Given the description of an element on the screen output the (x, y) to click on. 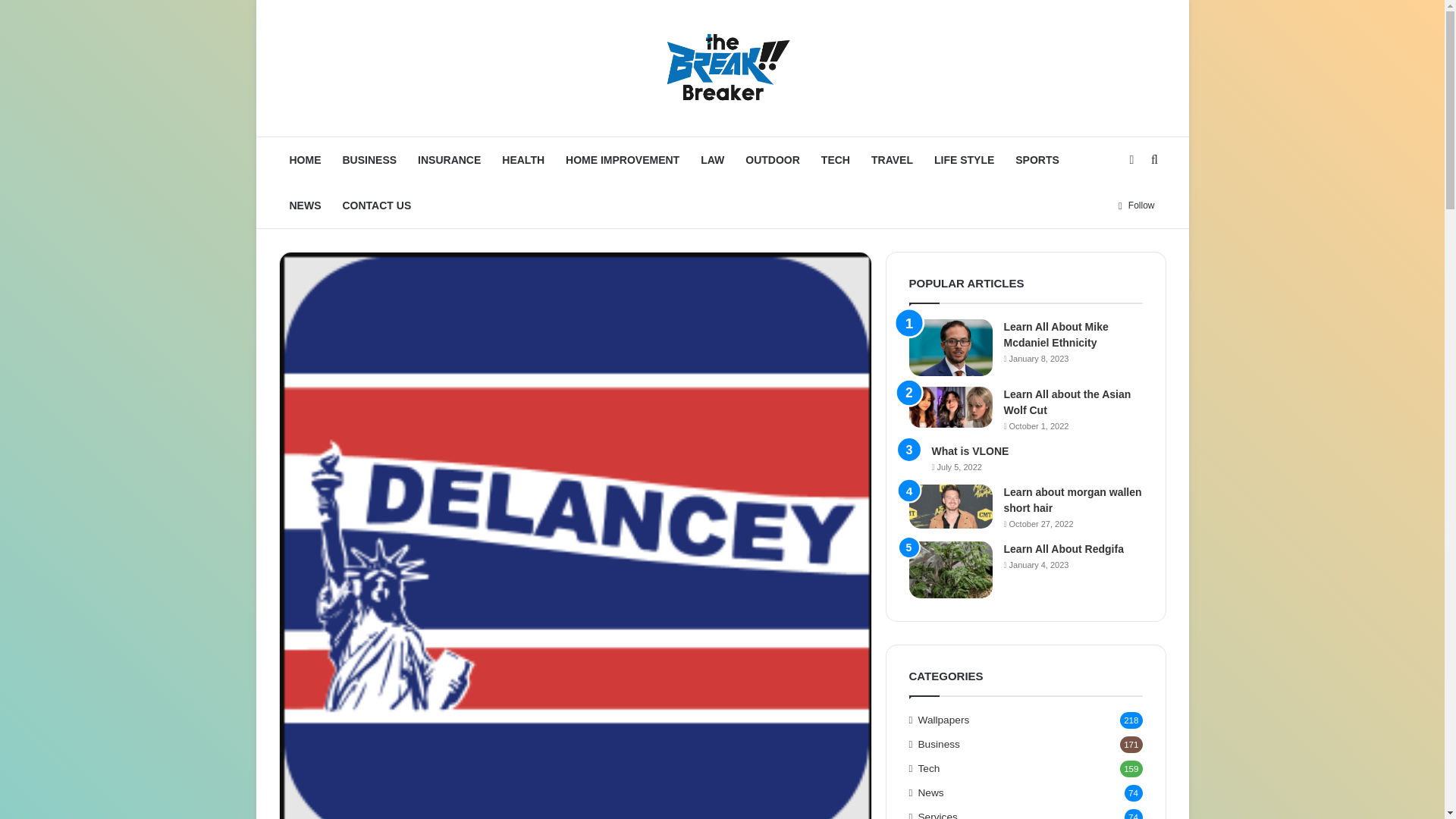
HEALTH (523, 159)
Follow (1136, 205)
LIFE STYLE (963, 159)
BUSINESS (369, 159)
SPORTS (1037, 159)
TECH (835, 159)
TRAVEL (891, 159)
INSURANCE (449, 159)
LAW (712, 159)
OUTDOOR (772, 159)
